Given the description of an element on the screen output the (x, y) to click on. 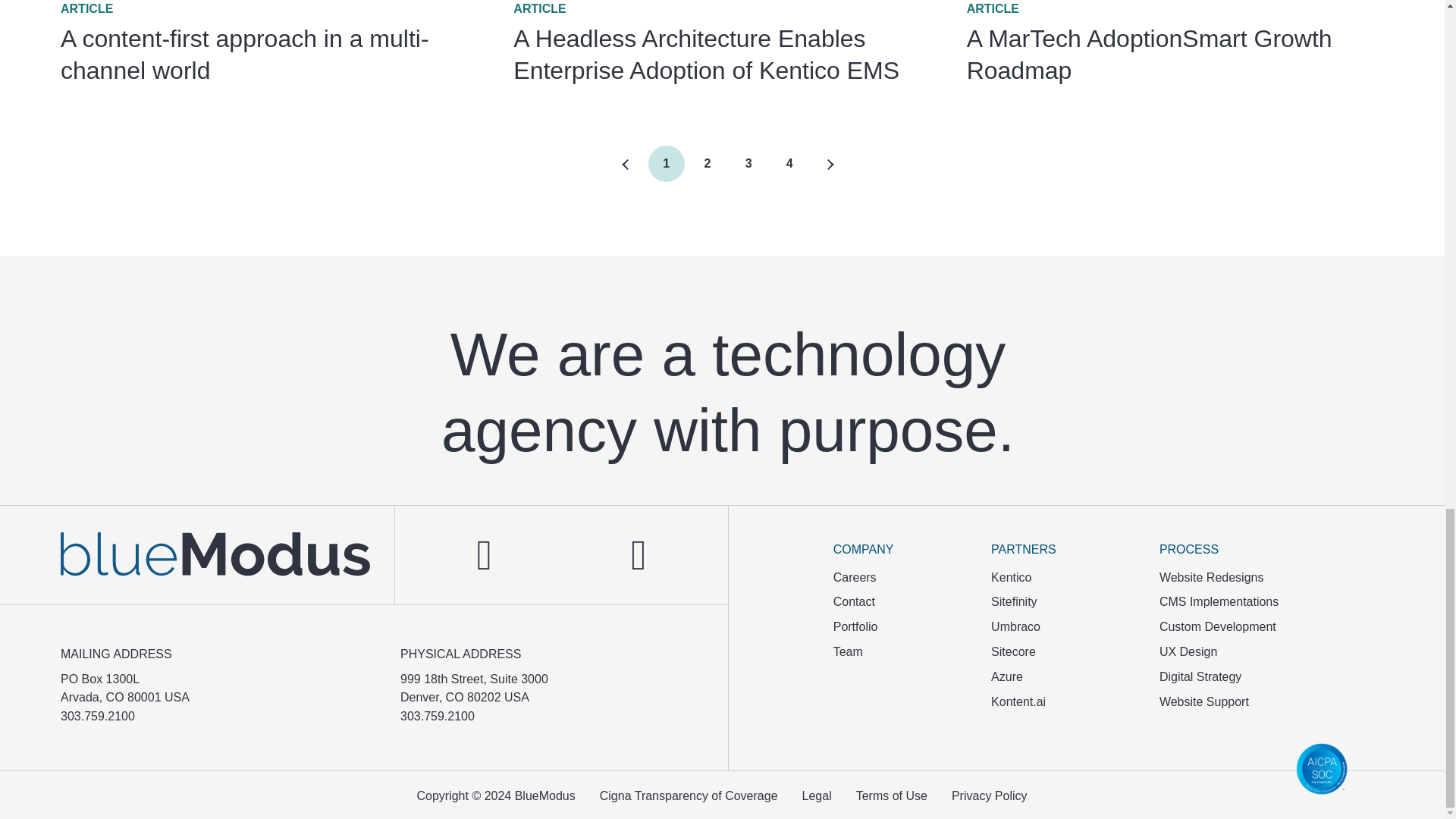
4 (789, 163)
1 (665, 163)
3 (748, 163)
NEXT (830, 165)
2 (1180, 43)
PREV (275, 43)
